Given the description of an element on the screen output the (x, y) to click on. 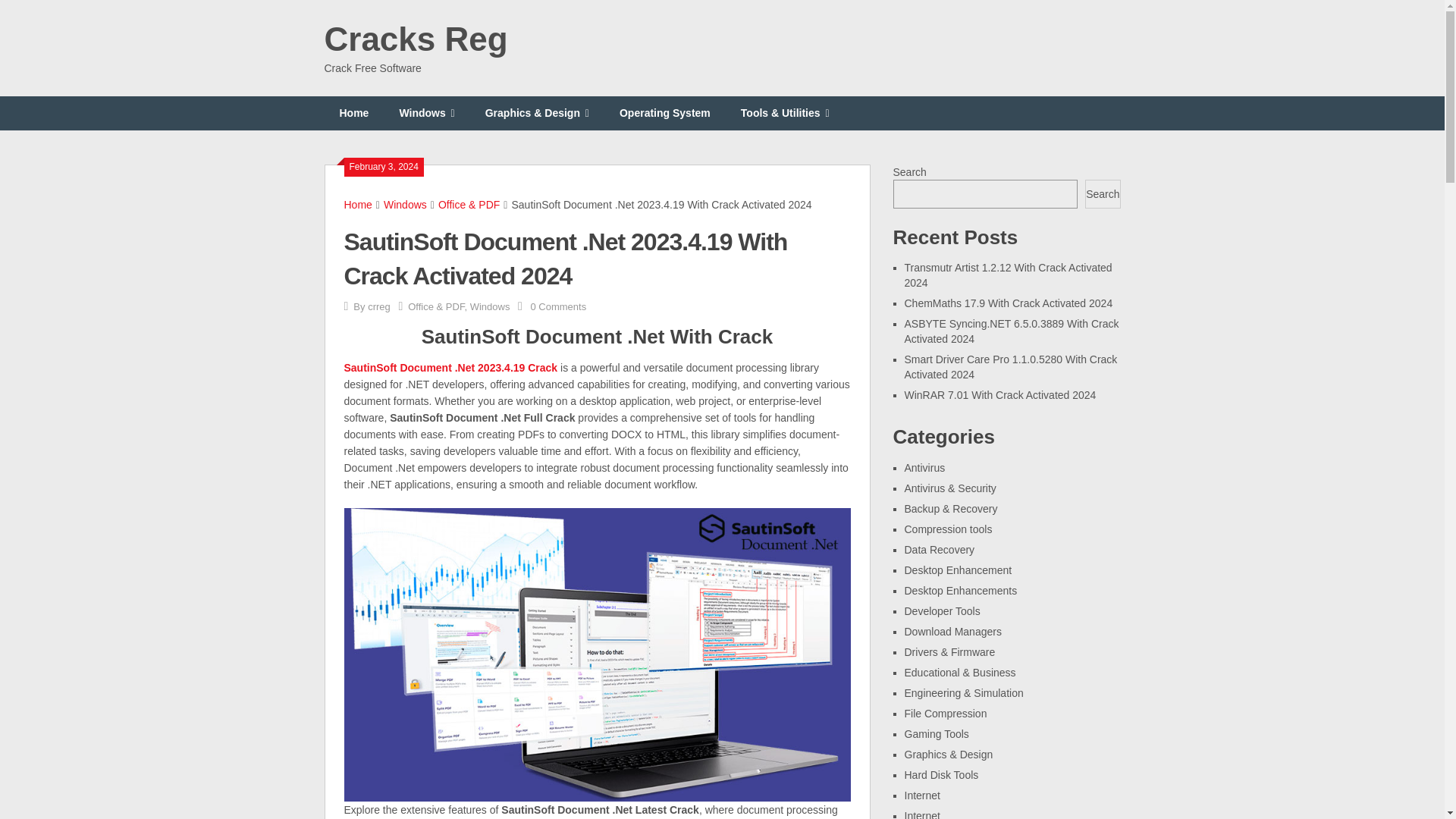
0 Comments (558, 306)
Home (354, 113)
Posts by crreg (379, 306)
Windows (426, 113)
Windows (490, 306)
Home (357, 204)
Cracks Reg (416, 38)
Operating System (664, 113)
SautinSoft Document .Net 2023.4.19 Crack (450, 367)
Windows (405, 204)
crreg (379, 306)
